Given the description of an element on the screen output the (x, y) to click on. 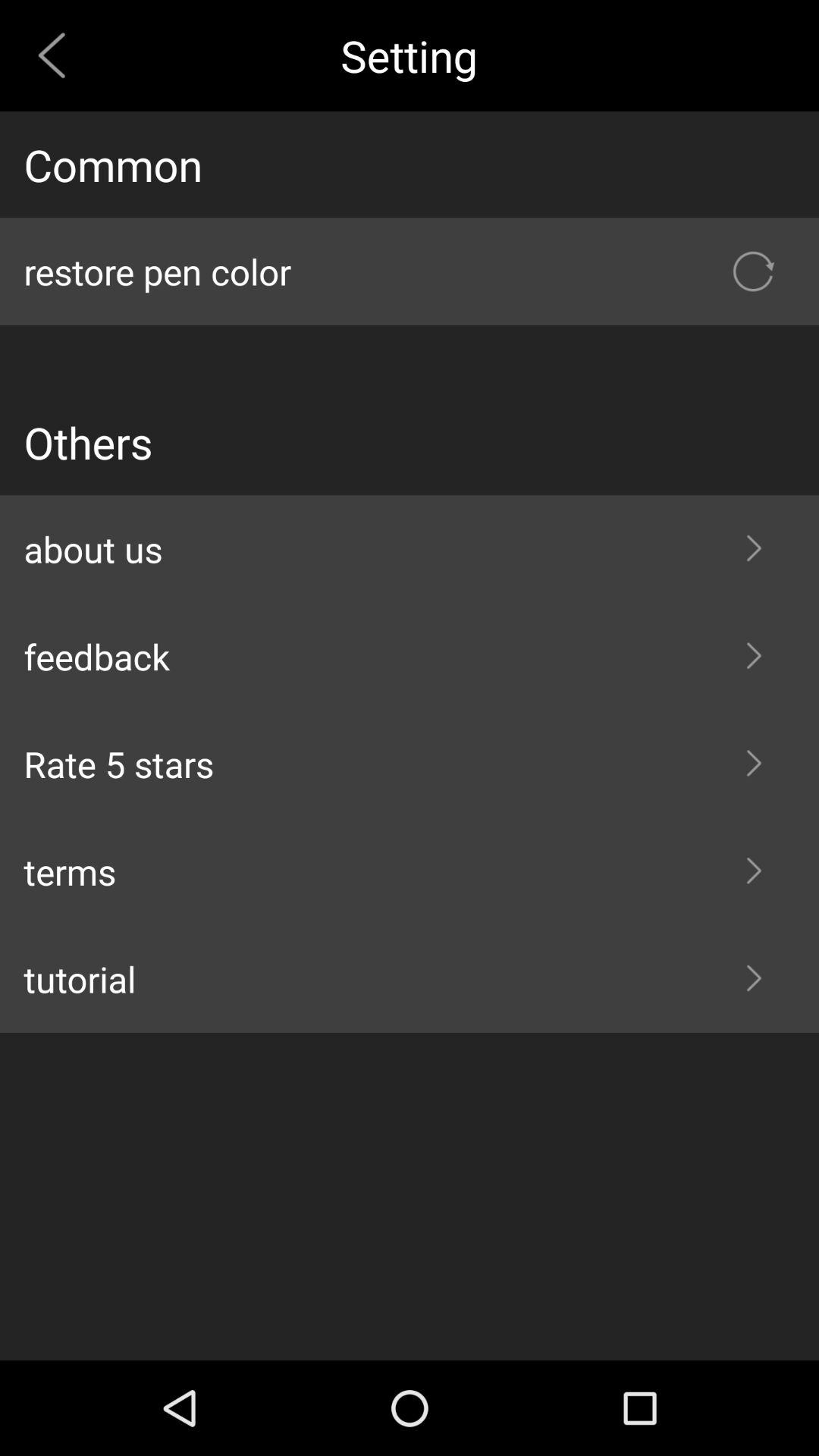
open restore pen color icon (409, 271)
